Given the description of an element on the screen output the (x, y) to click on. 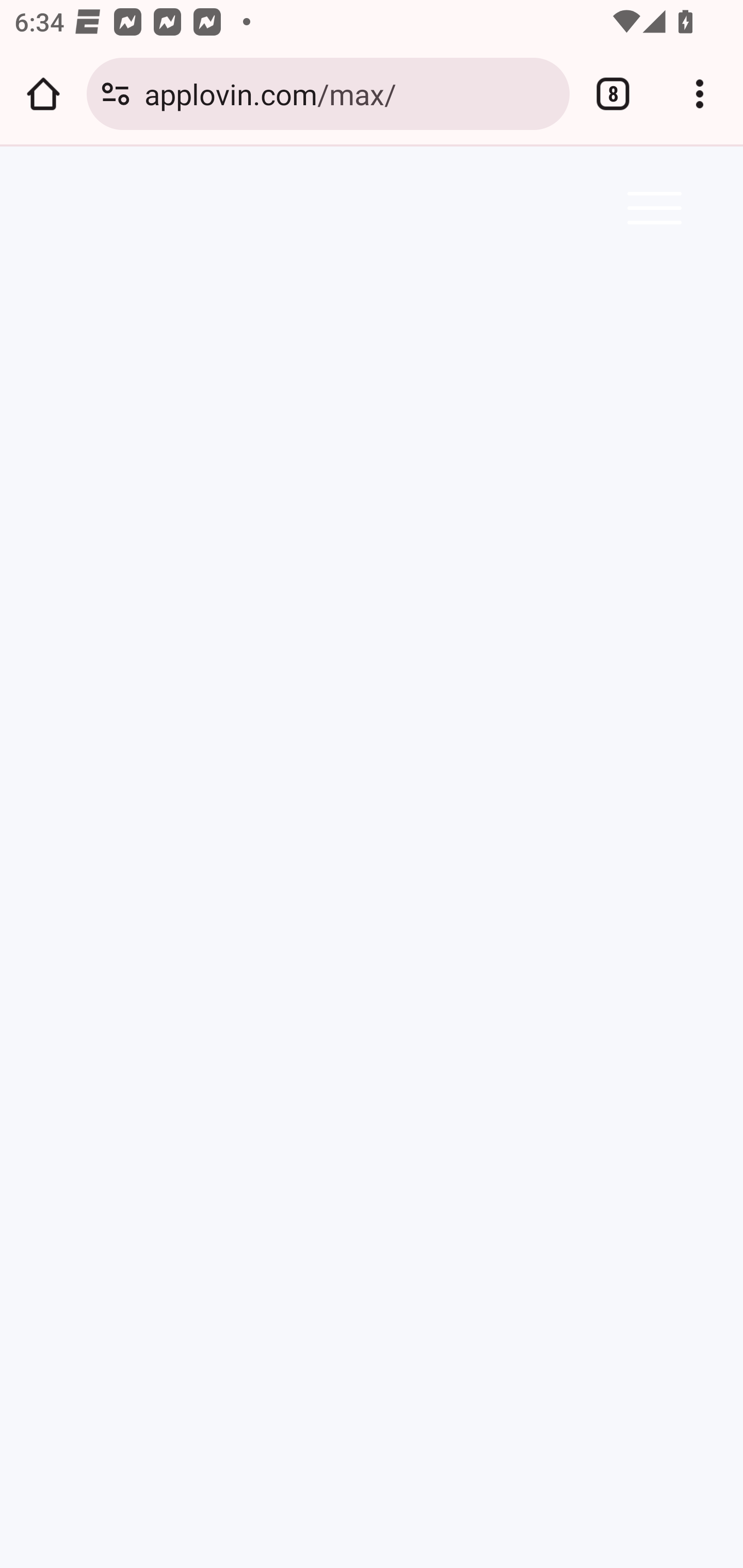
Open the home page (43, 93)
Connection is secure (115, 93)
Switch or close tabs (612, 93)
Customize and control Google Chrome (699, 93)
applovin.com/max/ (349, 92)
Menu Trigger (650, 207)
